Given the description of an element on the screen output the (x, y) to click on. 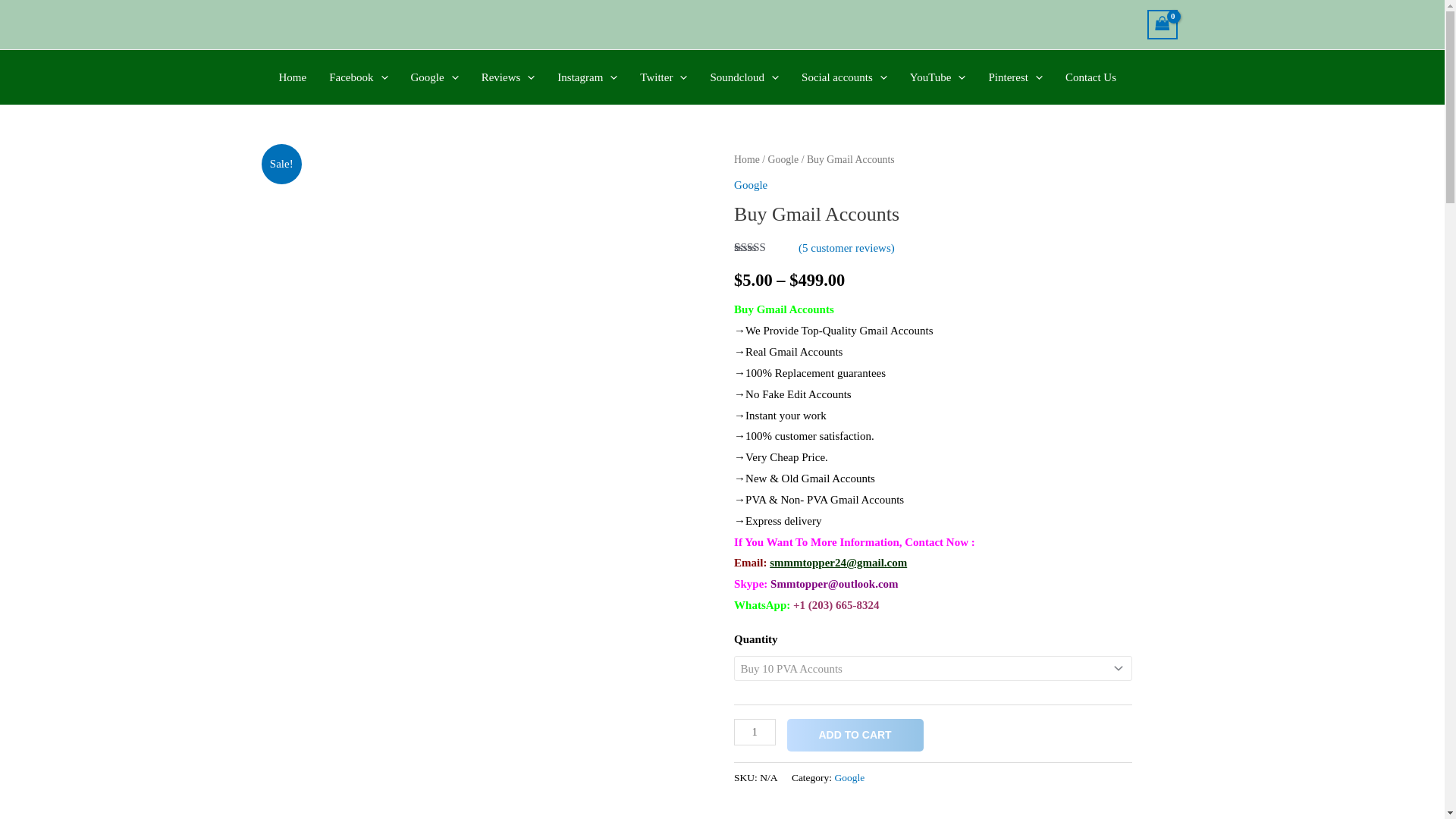
Social accounts (844, 76)
Twitter (663, 76)
Reviews (508, 76)
Instagram (587, 76)
Facebook (357, 76)
Soundcloud (744, 76)
Google (433, 76)
1 (753, 732)
Home (291, 76)
